Given the description of an element on the screen output the (x, y) to click on. 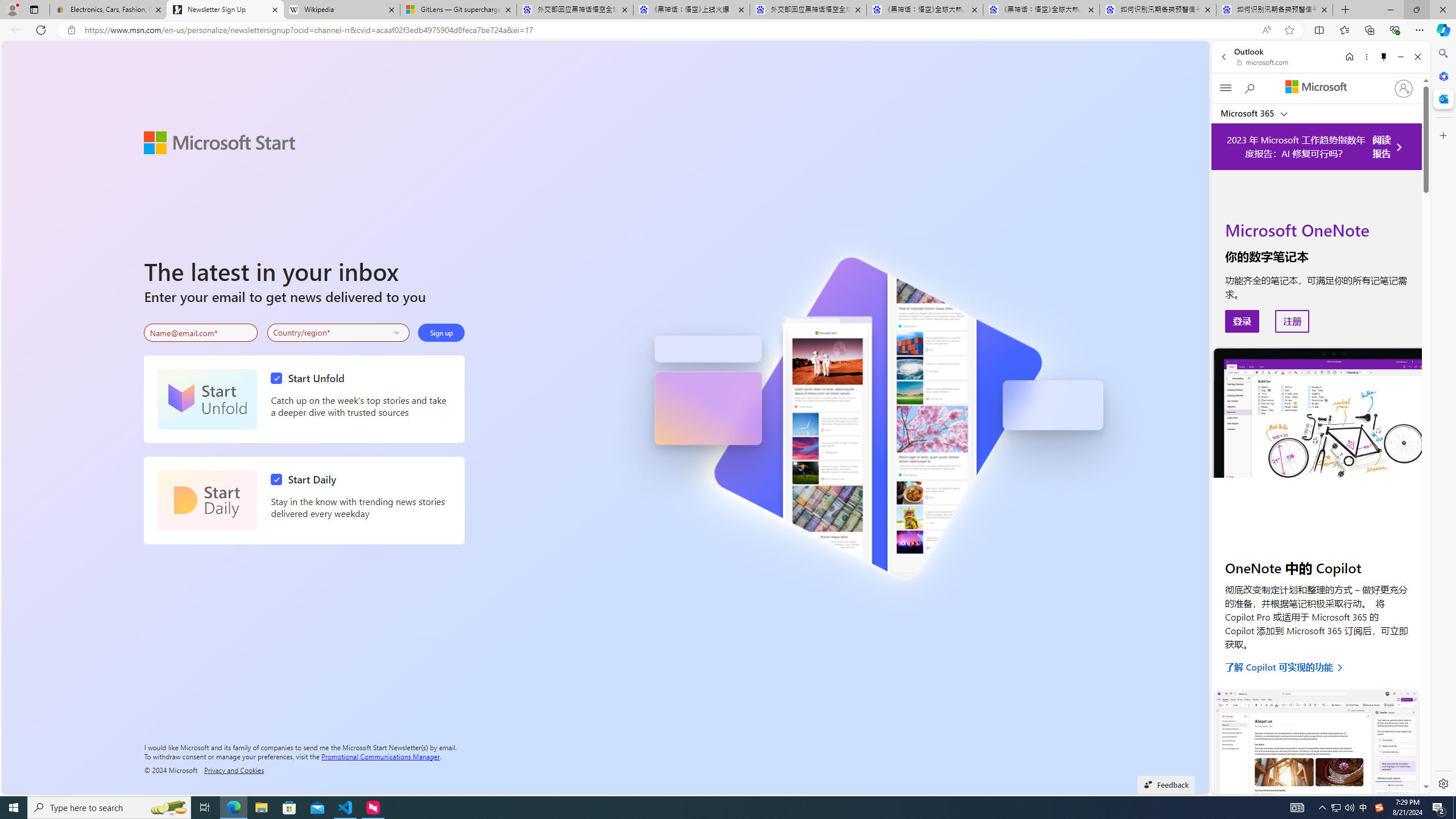
Start Unfold (207, 399)
Microsoft (1315, 87)
